Given the description of an element on the screen output the (x, y) to click on. 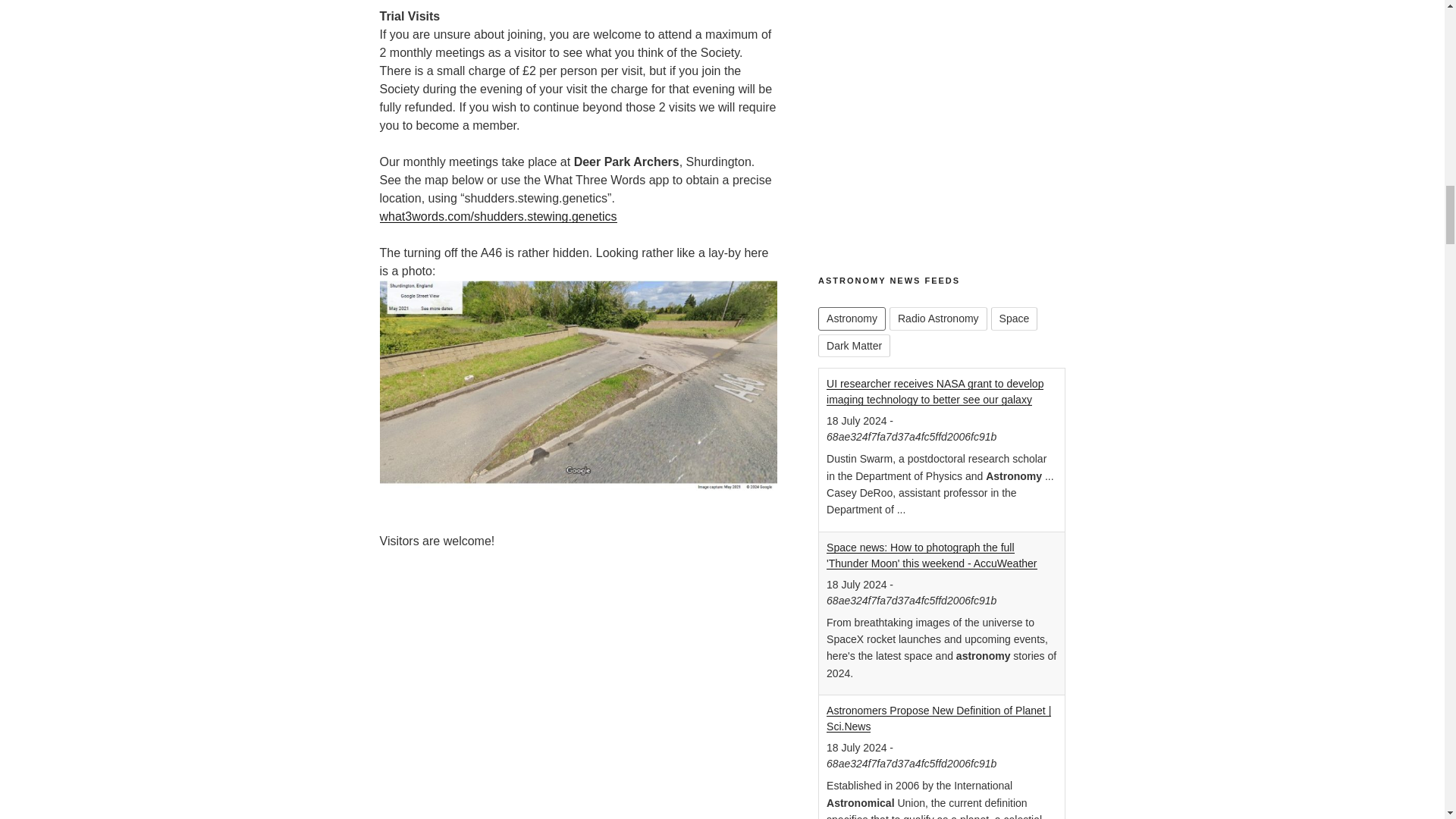
18 July 2024, 7:24 pm UTC (856, 420)
18 July 2024, 6:51 pm UTC (856, 584)
18 July 2024, 6:49 pm UTC (856, 747)
